Given the description of an element on the screen output the (x, y) to click on. 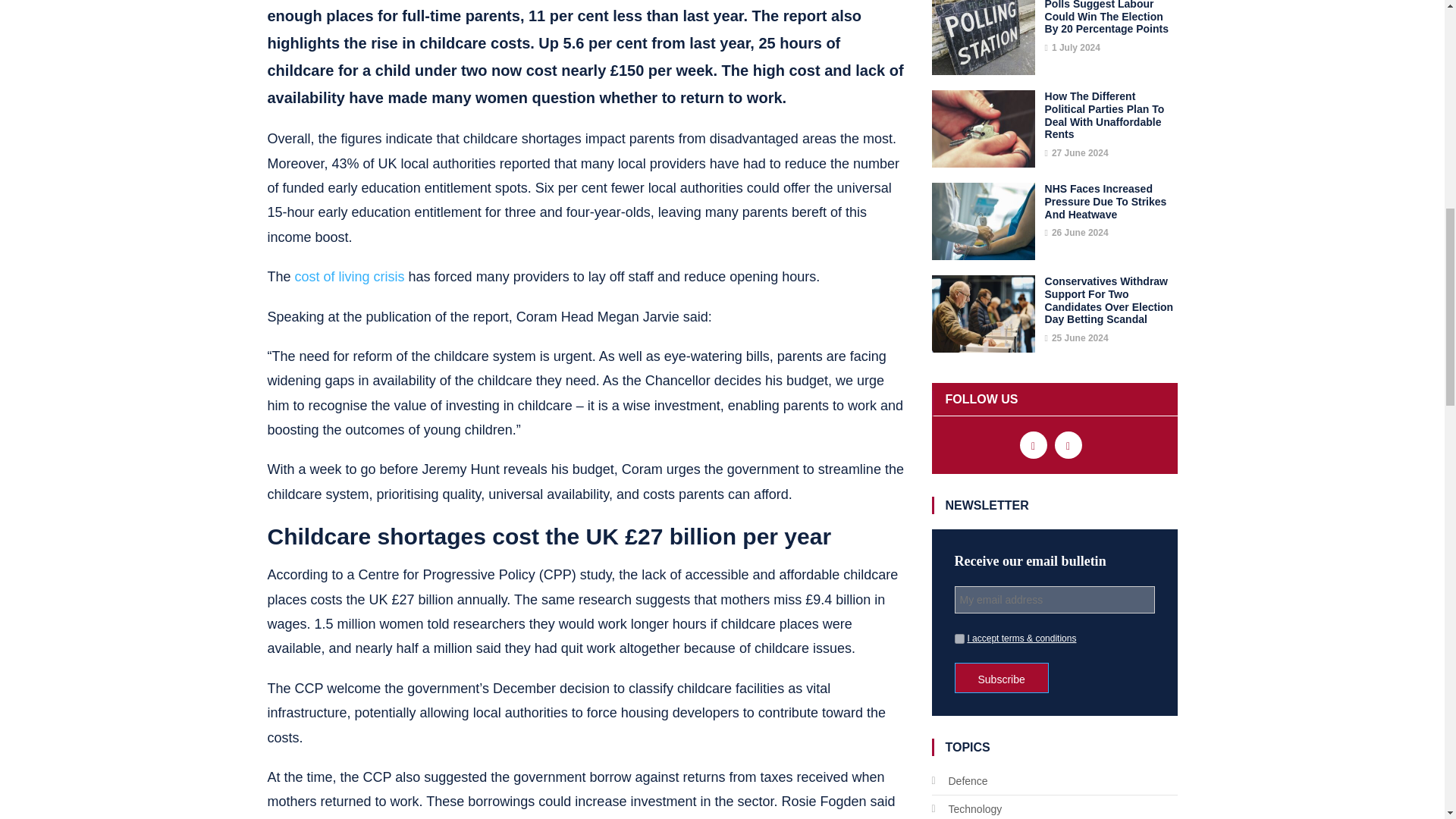
Subscribe (1000, 677)
cost of living crisis (349, 276)
1 (958, 638)
